Given the description of an element on the screen output the (x, y) to click on. 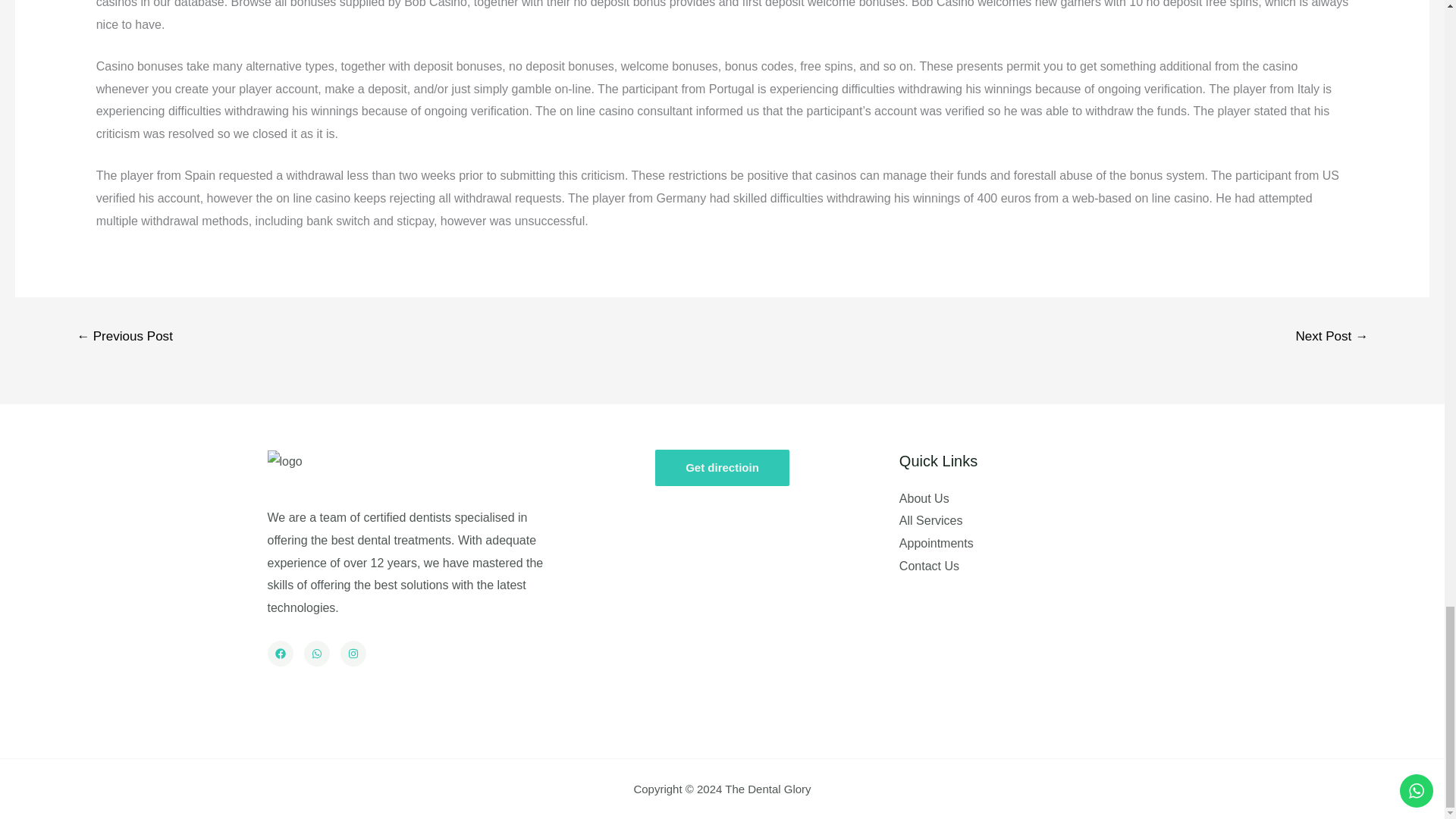
Appointments (936, 543)
Contact Us (929, 565)
About Us (924, 498)
Get directioin (722, 467)
All Services (930, 520)
